Given the description of an element on the screen output the (x, y) to click on. 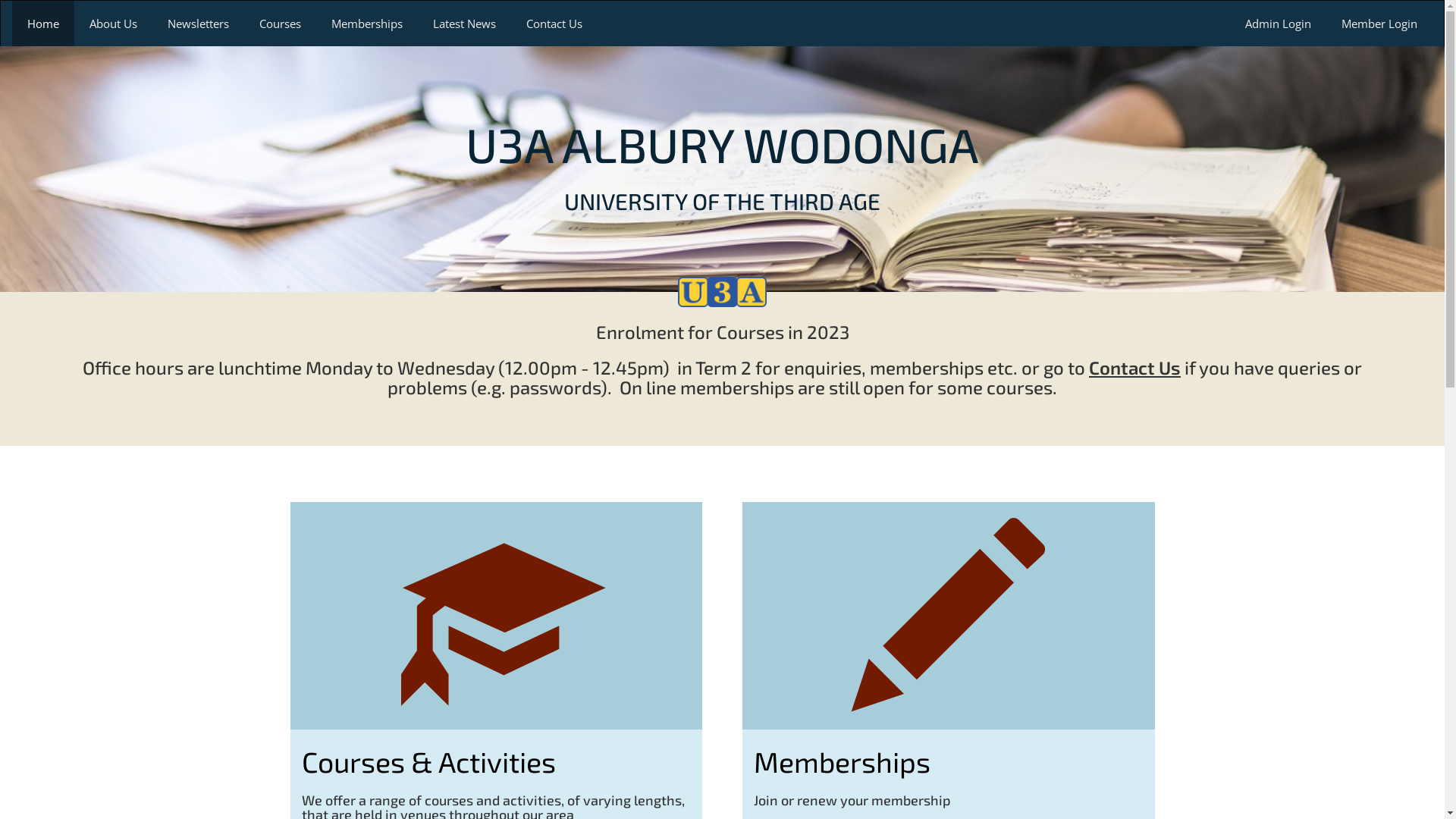
Memberships Element type: text (366, 23)
Newsletters Element type: text (198, 23)
About Us Element type: text (113, 23)
Courses Element type: text (280, 23)
Courses & Activities Element type: hover (495, 615)
Latest News Element type: text (464, 23)
Courses & Activities Element type: text (428, 761)
Member Login Element type: text (1379, 23)
Admin Login Element type: text (1278, 23)
Home Element type: text (43, 23)
Memberships Element type: text (841, 761)
U3A ALBURY WODONGA
UNIVERSITY OF THE THIRD AGE Element type: text (722, 163)
Memberships Element type: hover (948, 615)
Contact Us Element type: text (554, 23)
